Given the description of an element on the screen output the (x, y) to click on. 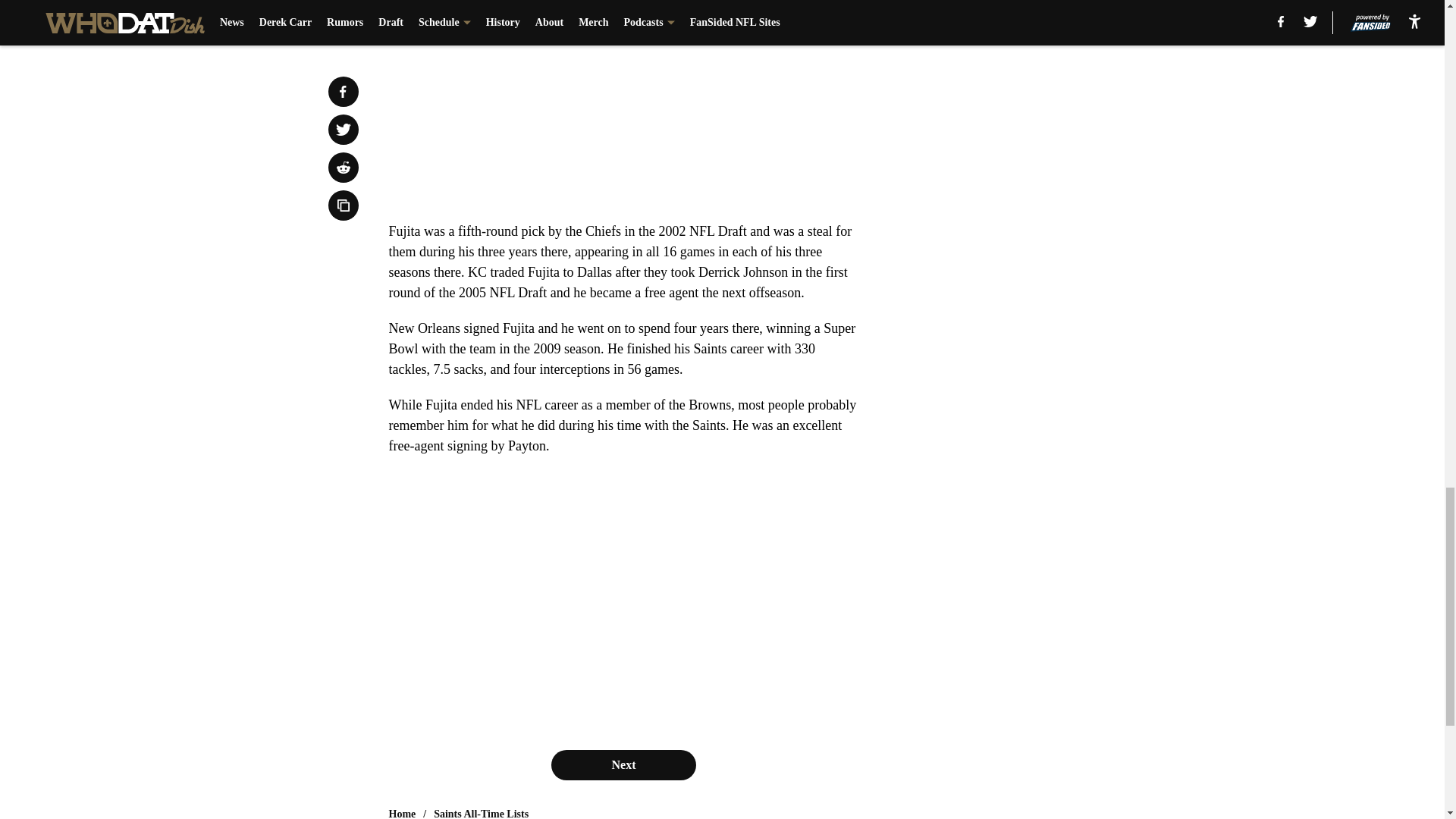
Next (622, 765)
Home (401, 812)
Saints All-Time Lists (480, 812)
